Given the description of an element on the screen output the (x, y) to click on. 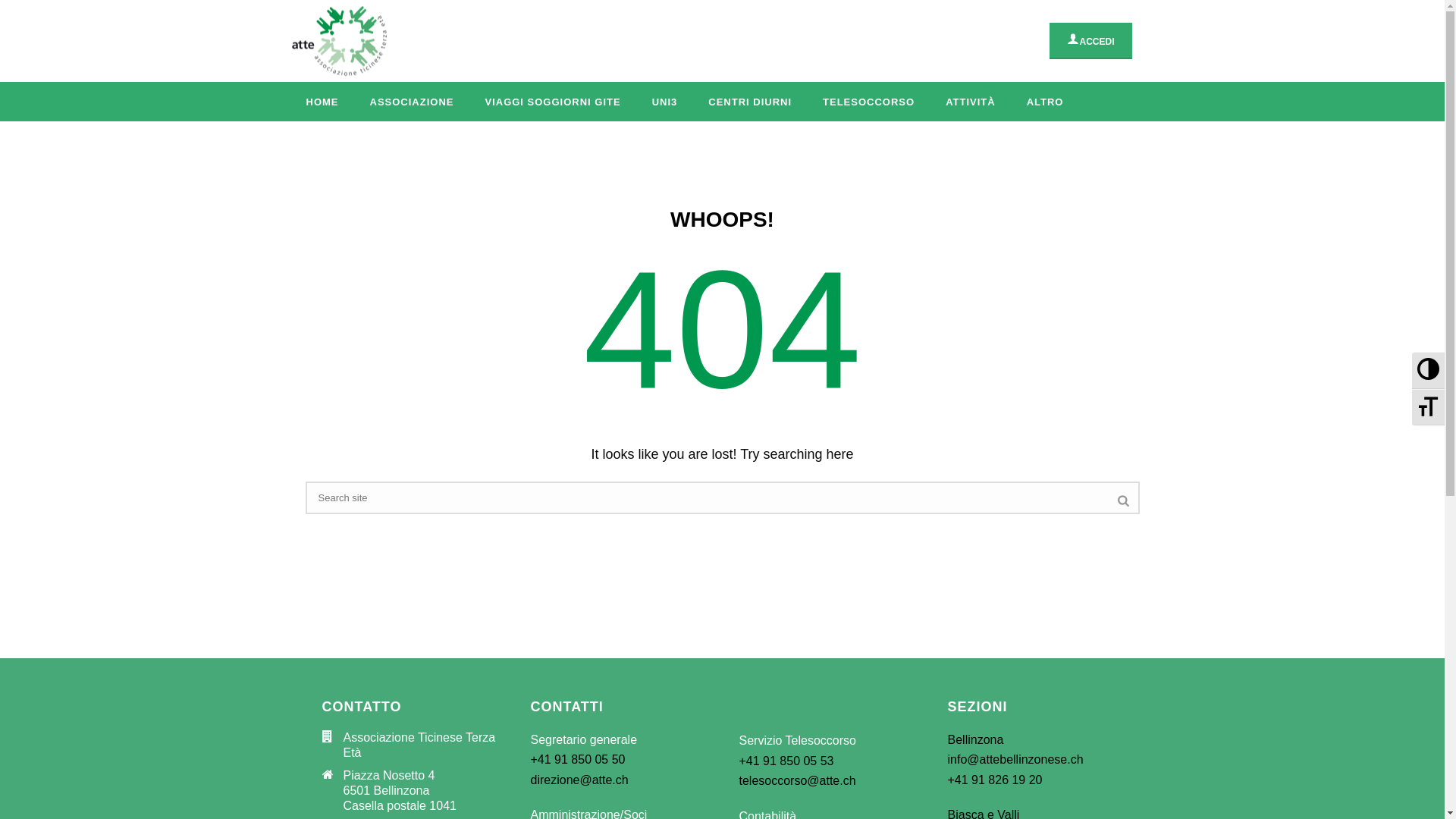
CENTRI DIURNI Element type: text (749, 101)
ACCEDI Element type: text (1090, 38)
VIAGGI SOGGIORNI GITE Element type: text (552, 101)
ASSOCIAZIONE Element type: text (411, 101)
+41 91 850 05 50 Element type: text (577, 759)
ALTRO Element type: text (1045, 101)
Bellinzona Element type: text (975, 739)
HOME Element type: text (322, 101)
Cambia dimensione testo Element type: text (1428, 407)
+41 91 850 05 53 Element type: text (785, 760)
direzione@atte.ch Element type: text (579, 779)
telesoccorso@atte.ch Element type: text (796, 780)
UNI3 Element type: text (665, 101)
TELESOCCORSO Element type: text (868, 101)
+41 91 826 19 20 Element type: text (994, 779)
info@attebellinzonese.ch Element type: text (1015, 759)
Passa ad alto contrasto Element type: text (1428, 369)
